Given the description of an element on the screen output the (x, y) to click on. 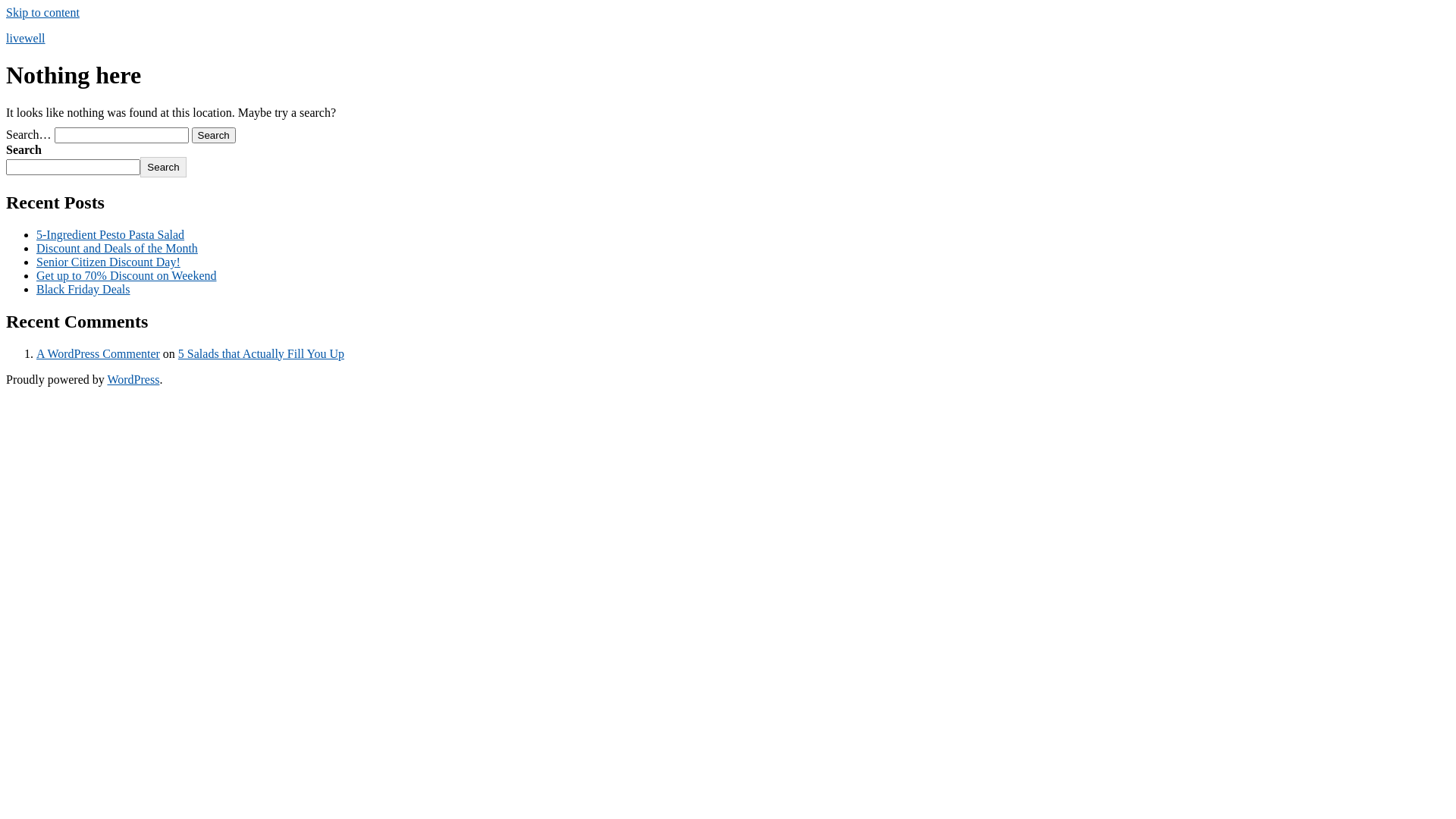
A WordPress Commenter Element type: text (98, 353)
Search Element type: text (213, 135)
Search Element type: text (163, 166)
WordPress Element type: text (132, 379)
Get up to 70% Discount on Weekend Element type: text (126, 275)
5 Salads that Actually Fill You Up Element type: text (261, 353)
Black Friday Deals Element type: text (83, 288)
Discount and Deals of the Month Element type: text (116, 247)
5-Ingredient Pesto Pasta Salad Element type: text (110, 234)
livewell Element type: text (25, 37)
Skip to content Element type: text (42, 12)
Senior Citizen Discount Day! Element type: text (108, 261)
